Given the description of an element on the screen output the (x, y) to click on. 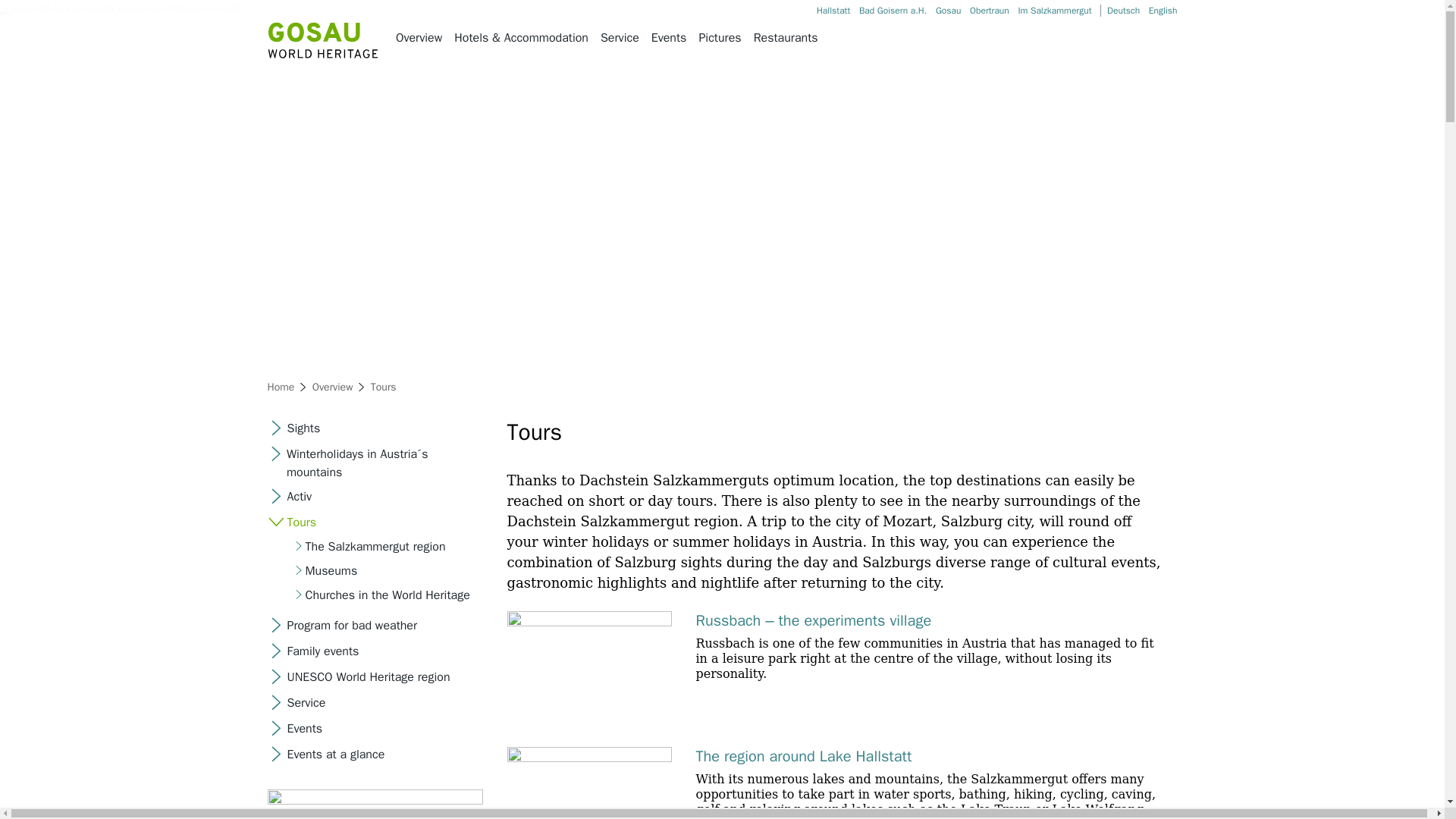
The region around Lake Hallstatt (803, 755)
English (1162, 10)
Hallstatt (833, 10)
Erkundungstour - German (1123, 10)
Bad Goisern a.H. (892, 10)
Overview (333, 386)
Tours (383, 386)
Home (280, 386)
Zur Seite Pictures (719, 37)
Pictures (719, 37)
